Given the description of an element on the screen output the (x, y) to click on. 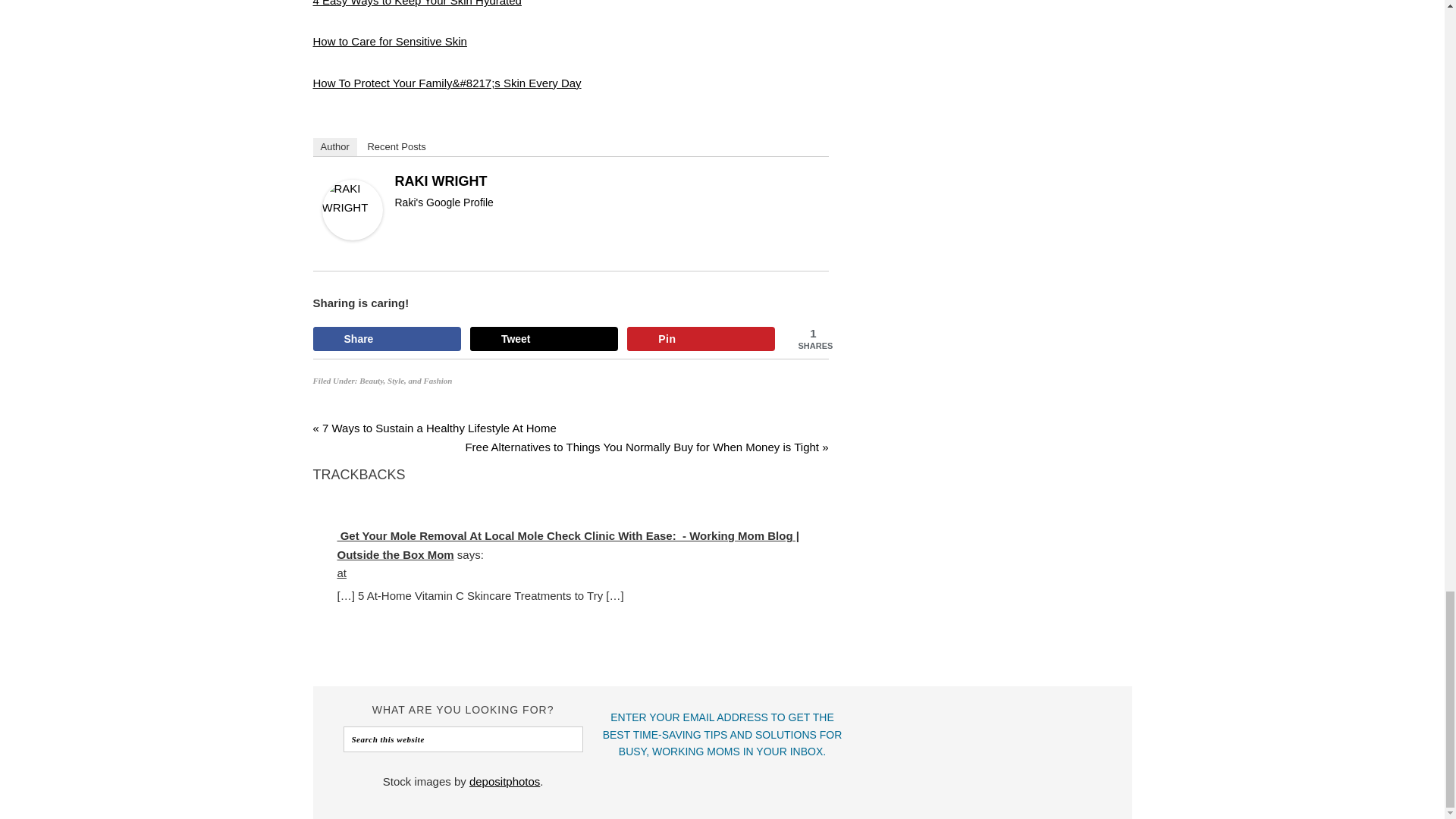
Save to Pinterest (700, 338)
Share on X (543, 338)
Share on Facebook (386, 338)
